Given the description of an element on the screen output the (x, y) to click on. 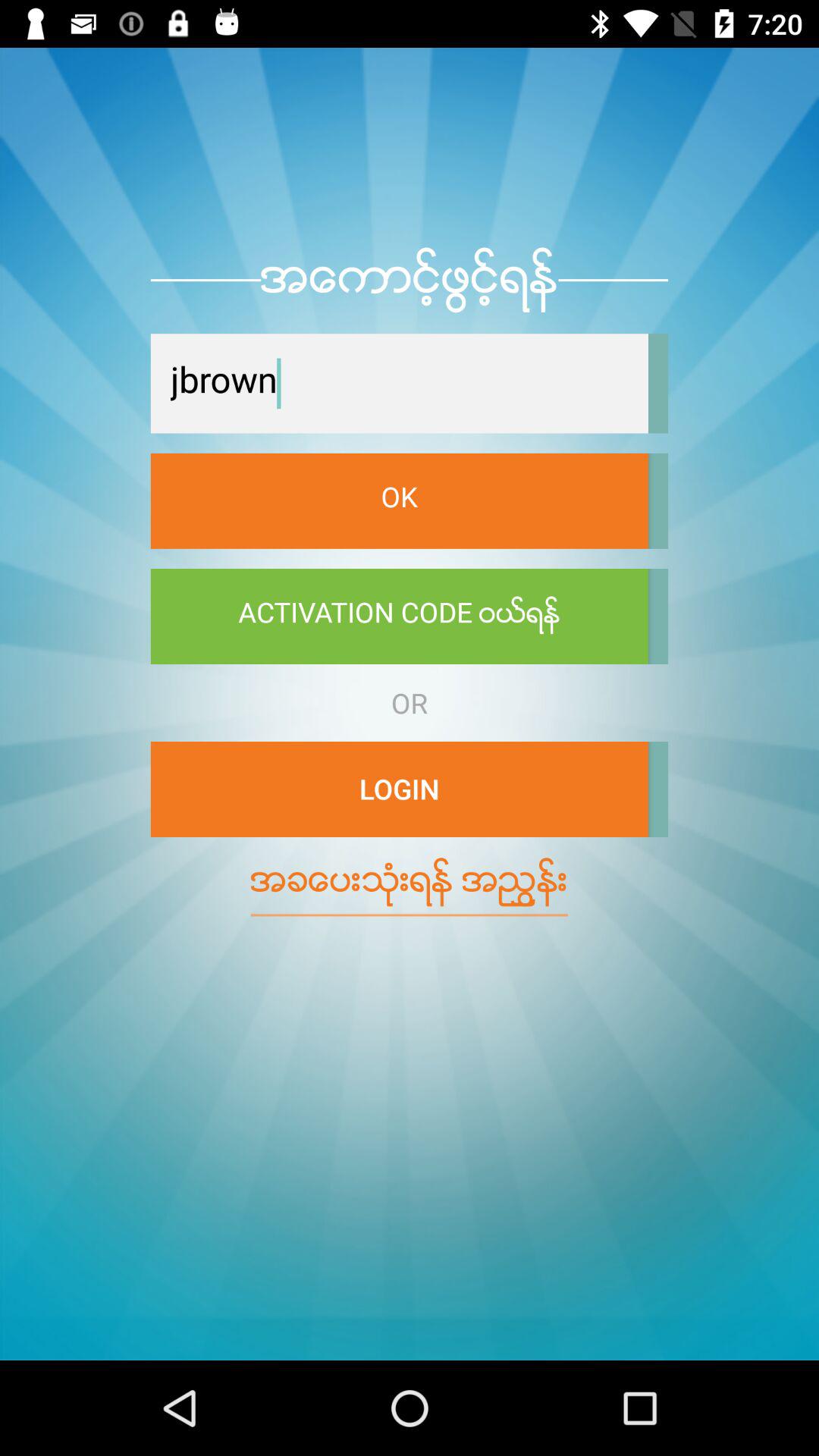
swipe to login item (399, 789)
